Given the description of an element on the screen output the (x, y) to click on. 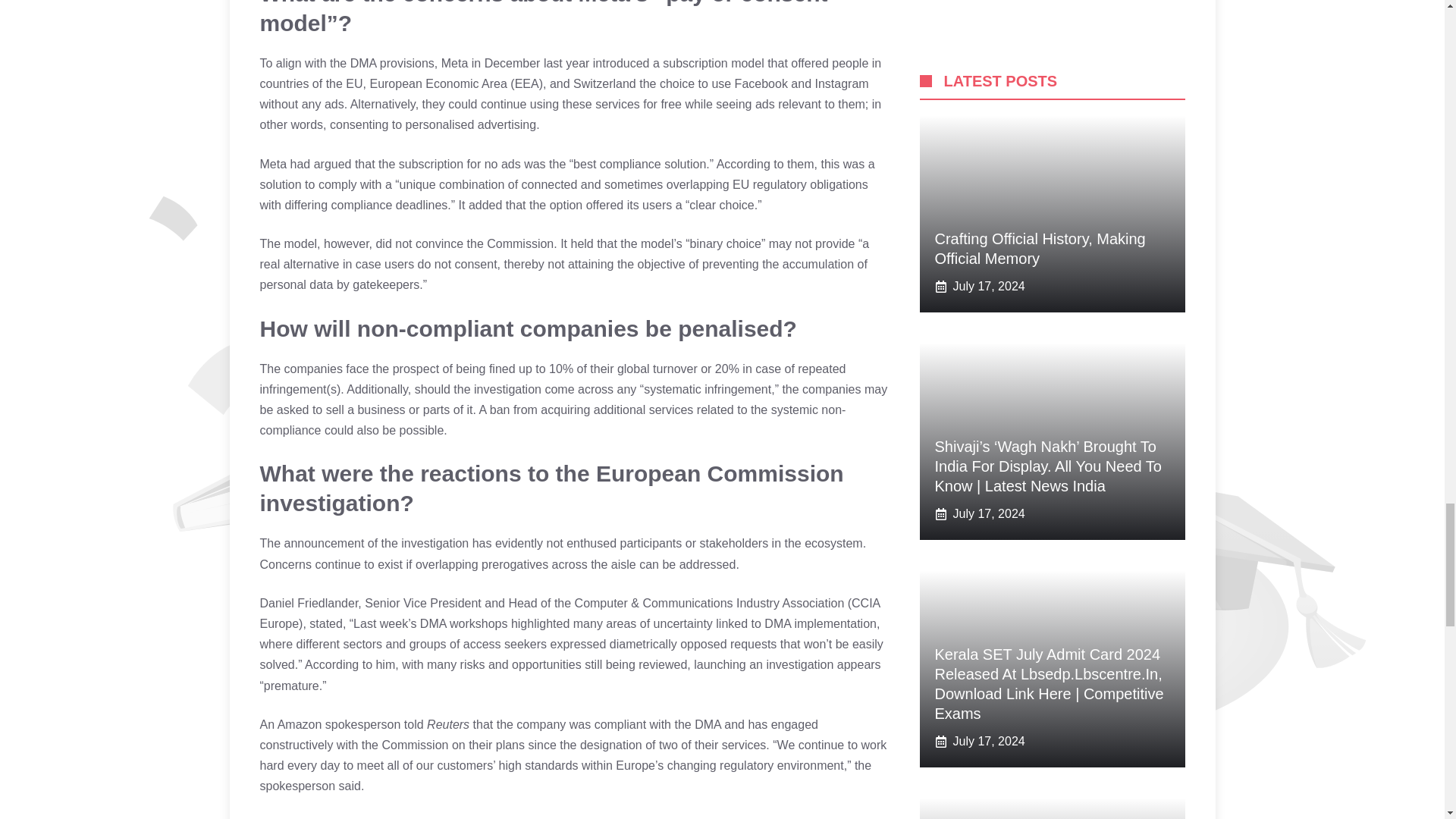
Source link (288, 818)
Meta in December last year introduced (545, 62)
